Given the description of an element on the screen output the (x, y) to click on. 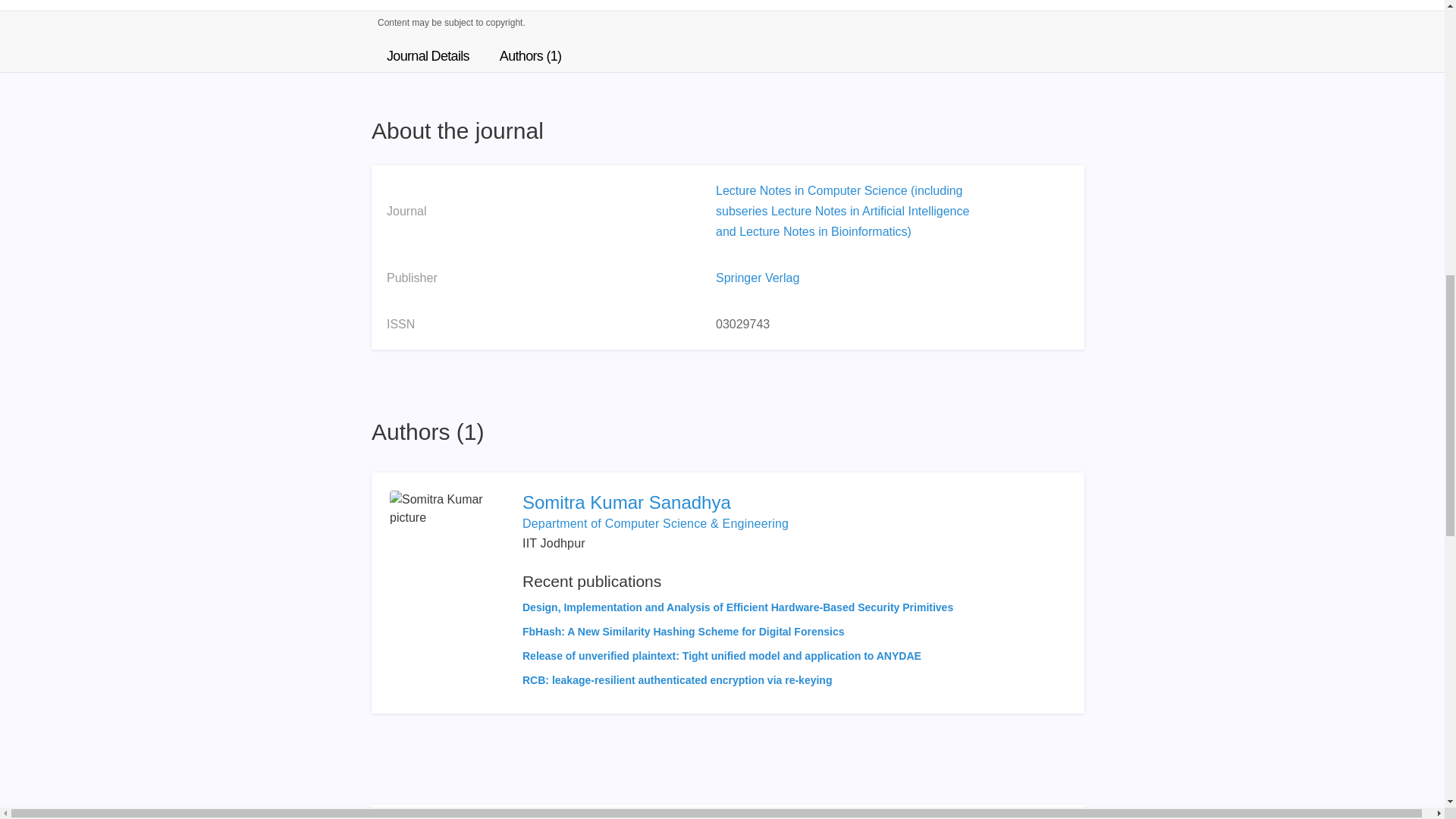
Somitra Kumar Sanadhya (737, 502)
Springer Verlag (757, 277)
Journal Details (427, 56)
